Given the description of an element on the screen output the (x, y) to click on. 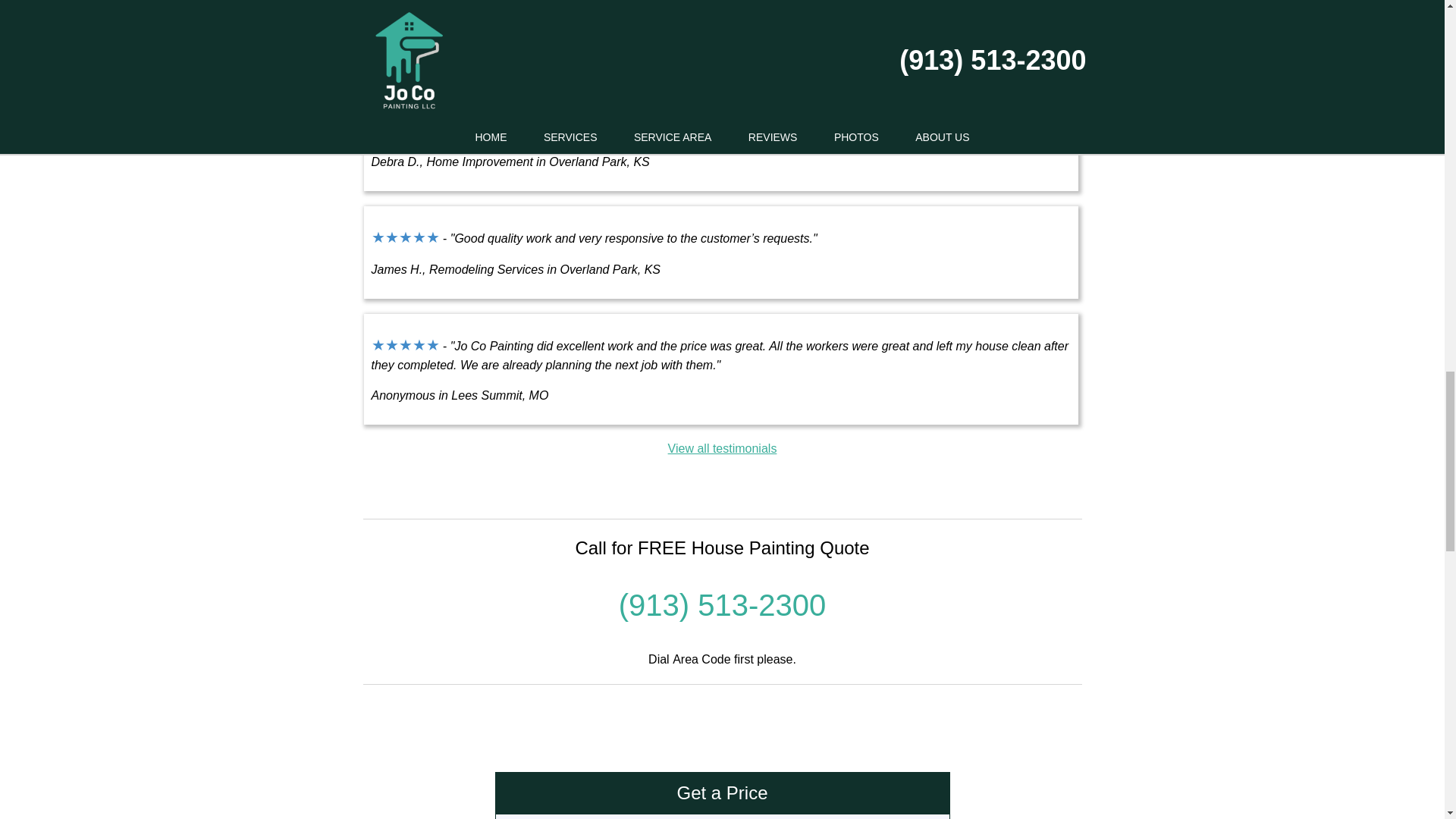
View all testimonials (722, 448)
